Given the description of an element on the screen output the (x, y) to click on. 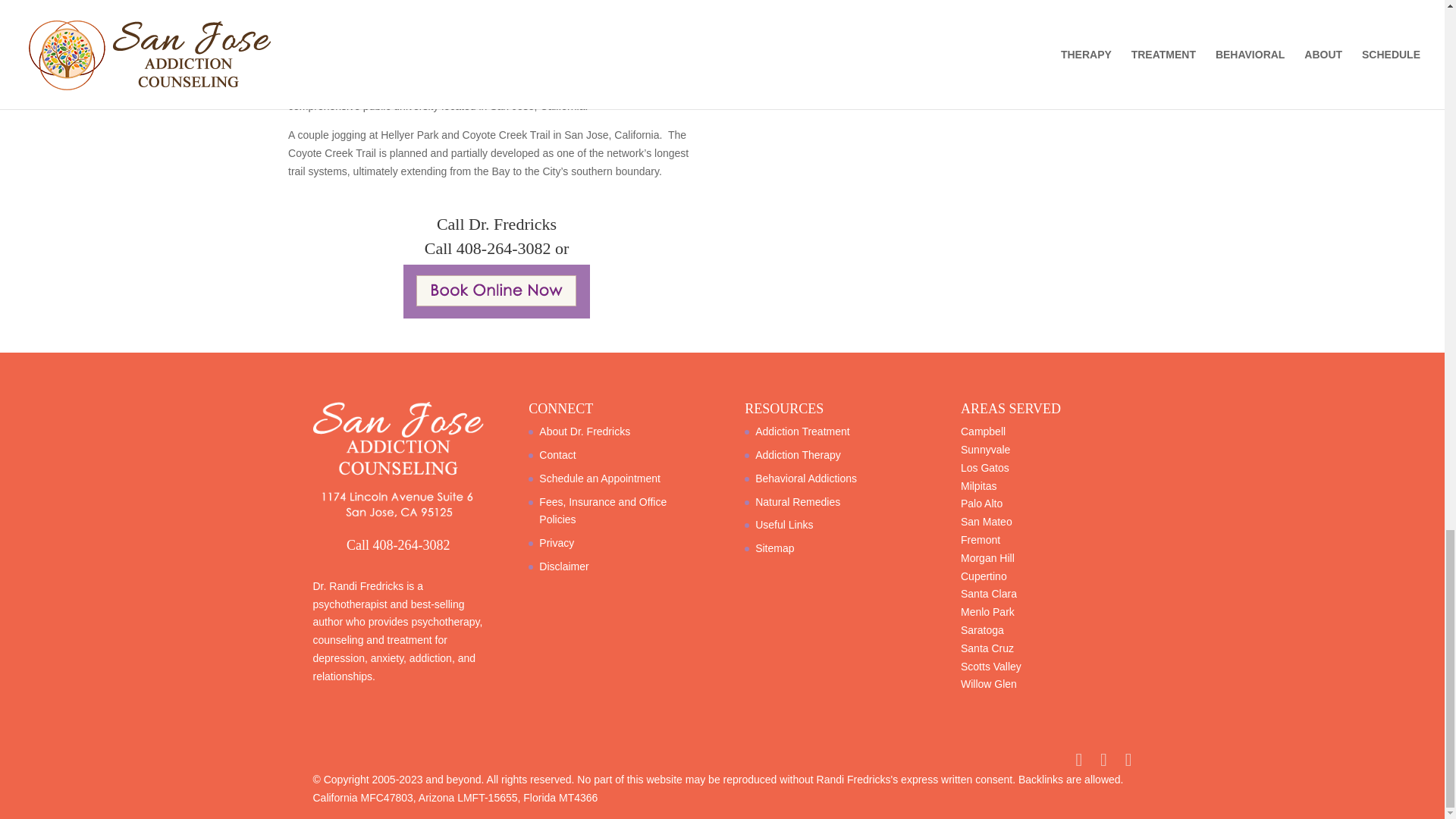
Sitemap (774, 548)
Useful Links (783, 524)
Call 408-264-3082 (397, 544)
Addiction Treatment (802, 431)
Schedule an Appointment (599, 478)
About Dr. Fredricks (584, 431)
Privacy (555, 542)
Fees, Insurance and Office Policies (602, 511)
Call 408-264-3082 (488, 248)
Addiction Therapy (798, 454)
